Given the description of an element on the screen output the (x, y) to click on. 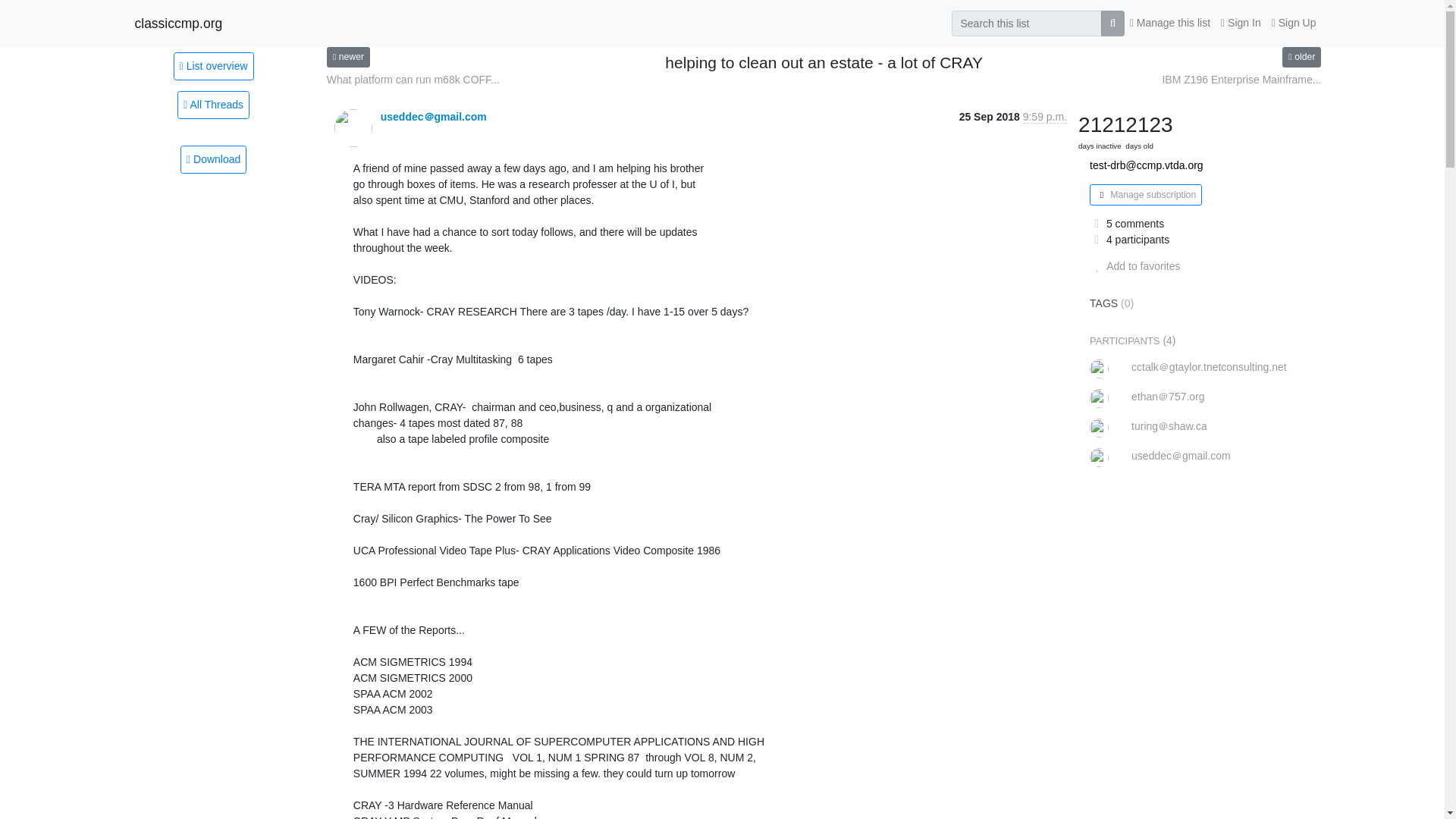
Manage this list (1169, 22)
classiccmp.org (178, 22)
All Threads (212, 104)
What platform can run m68k COFF... (412, 79)
newer (347, 56)
IBM Z196 Enterprise Mainframe Computer on GovPlanet (1301, 56)
older (1301, 56)
Sign Up (1294, 22)
This thread in gzipped mbox format (213, 159)
Sign In (1240, 22)
List overview (213, 65)
What platform can run m68k COFF binaries? (347, 56)
What platform can run m68k COFF binaries? (412, 79)
Sender's time: Sept. 25, 2018, 8:59 p.m. (1045, 116)
IBM Z196 Enterprise Mainframe Computer on GovPlanet (1240, 79)
